Given the description of an element on the screen output the (x, y) to click on. 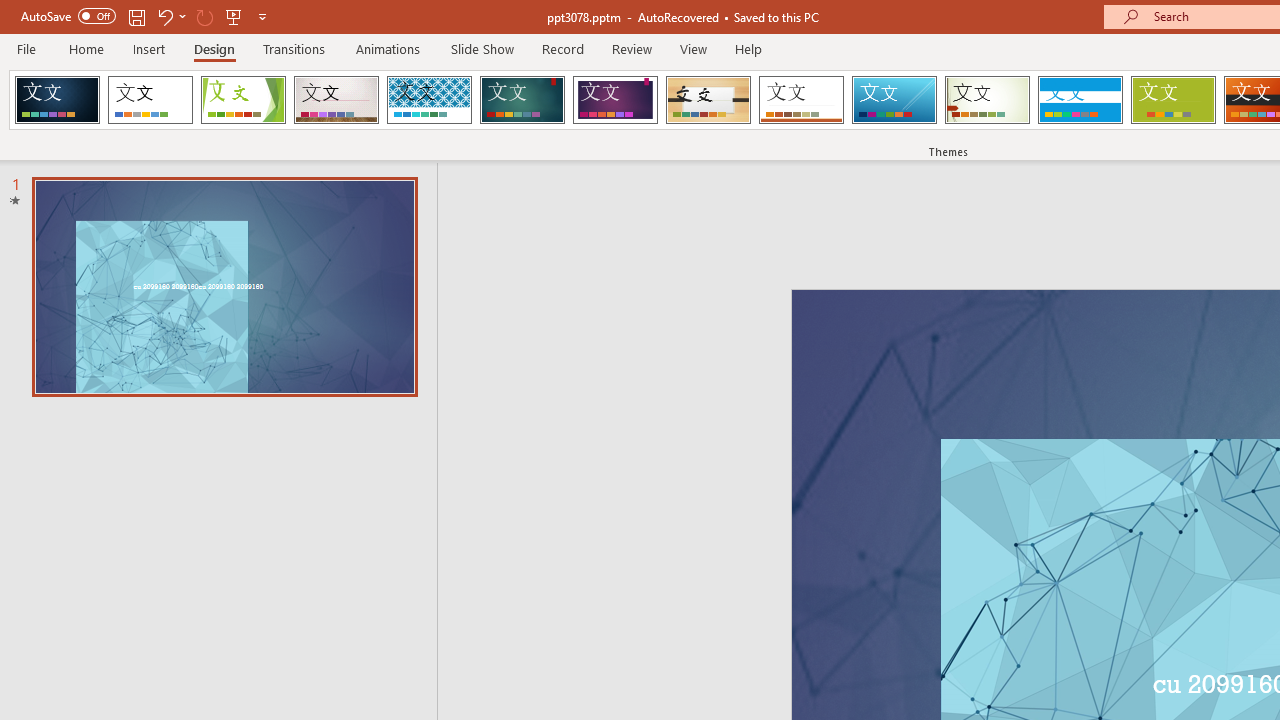
Integral (429, 100)
Ion (522, 100)
